Given the description of an element on the screen output the (x, y) to click on. 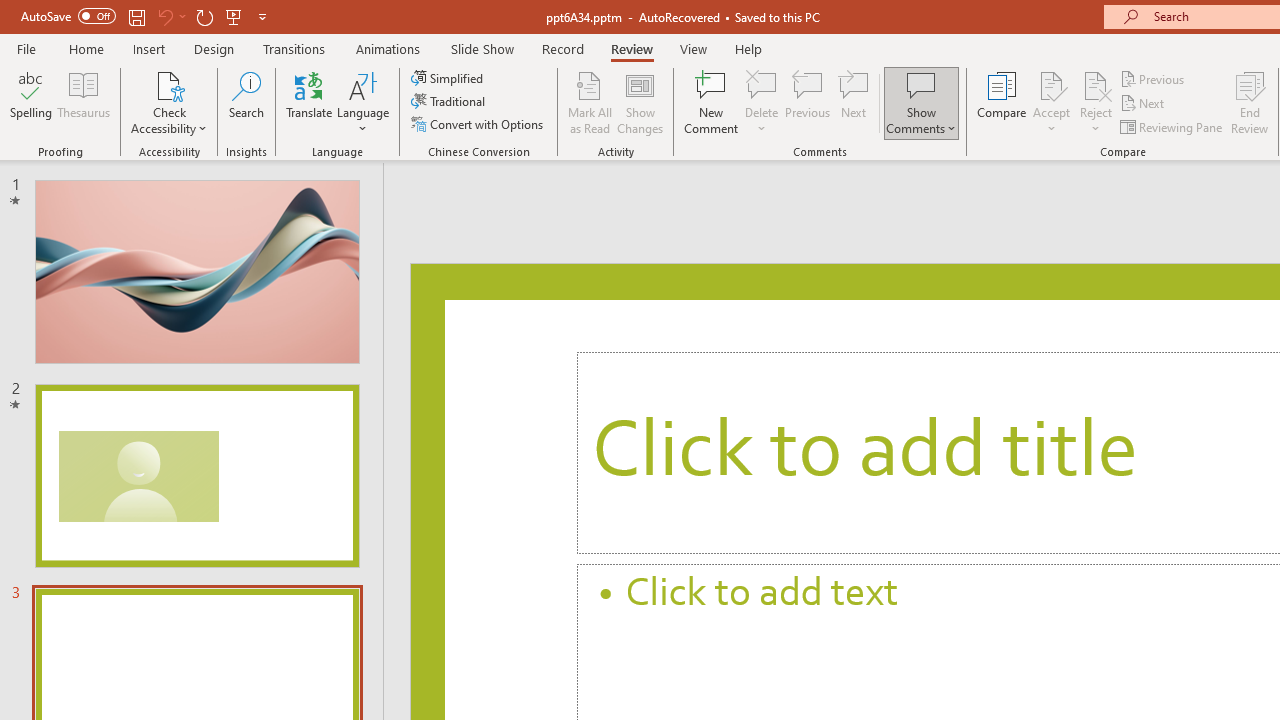
Traditional (449, 101)
